Given the description of an element on the screen output the (x, y) to click on. 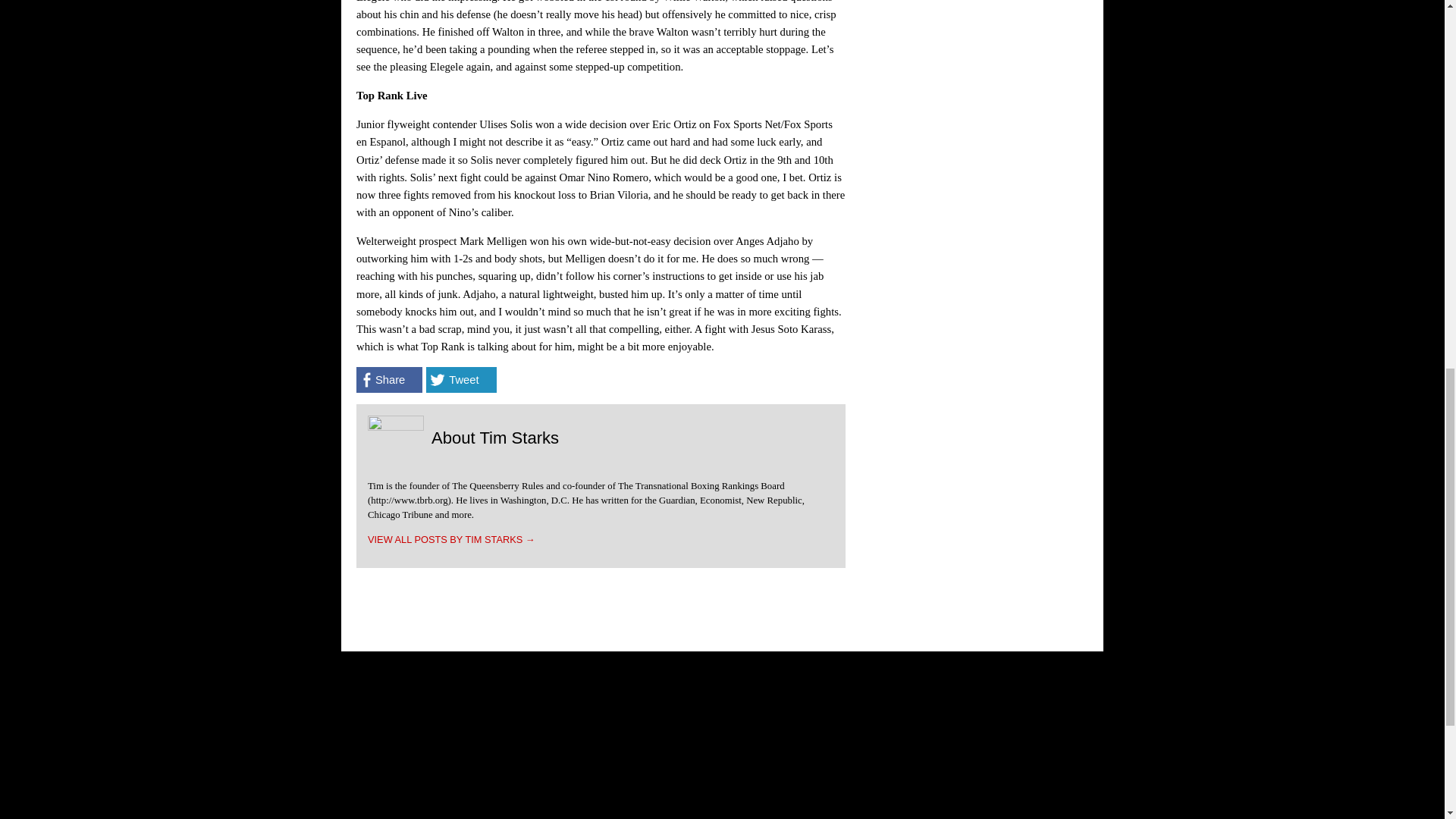
Share (389, 379)
Tweet (461, 379)
